Given the description of an element on the screen output the (x, y) to click on. 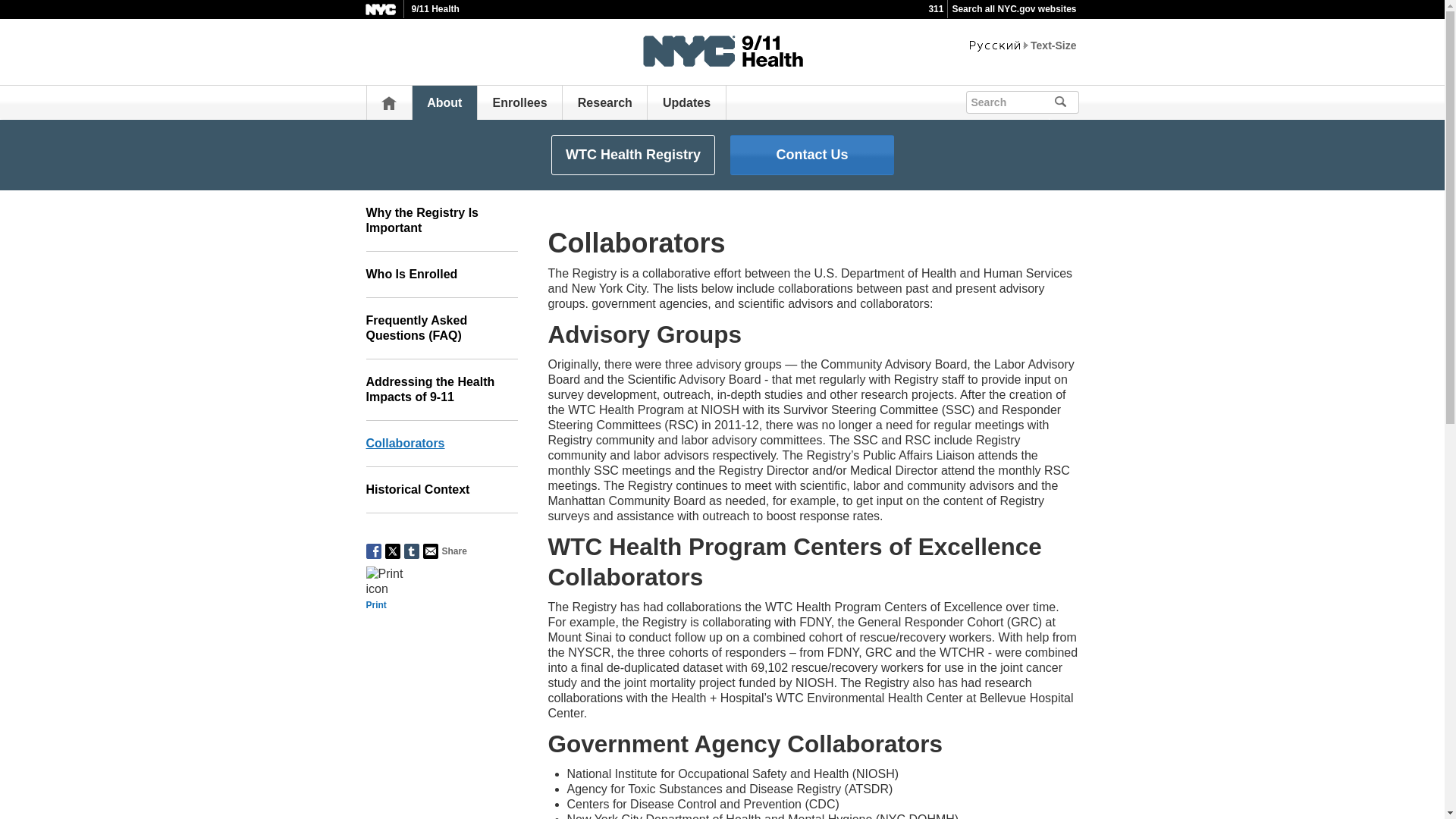
Updates (686, 102)
Collaborators (440, 443)
About (443, 102)
submit (1081, 100)
Research (604, 102)
submit (1066, 101)
311 (935, 9)
Contact Us (811, 155)
WTC Health Registry (632, 155)
Search all NYC.gov websites (1013, 9)
Text-Size (1052, 45)
Who Is Enrolled (440, 274)
submit (1066, 101)
Why the Registry Is Important (440, 220)
submit (1066, 101)
